Given the description of an element on the screen output the (x, y) to click on. 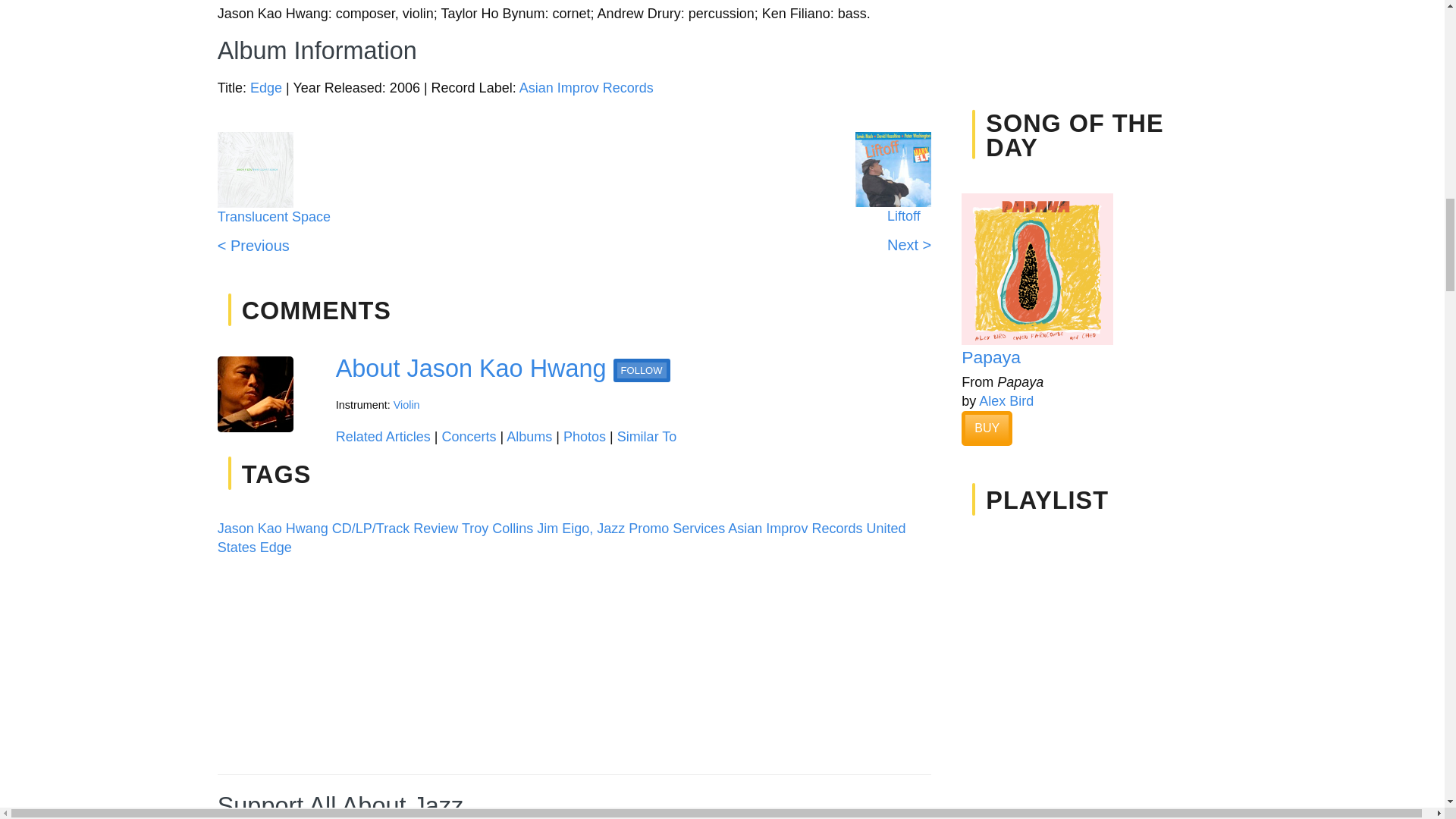
About Jason Kao Hwang (471, 368)
View Edge at All About Jazz (266, 87)
Edge (266, 87)
Return to previous article (273, 236)
Asian Improv Records (586, 87)
